Given the description of an element on the screen output the (x, y) to click on. 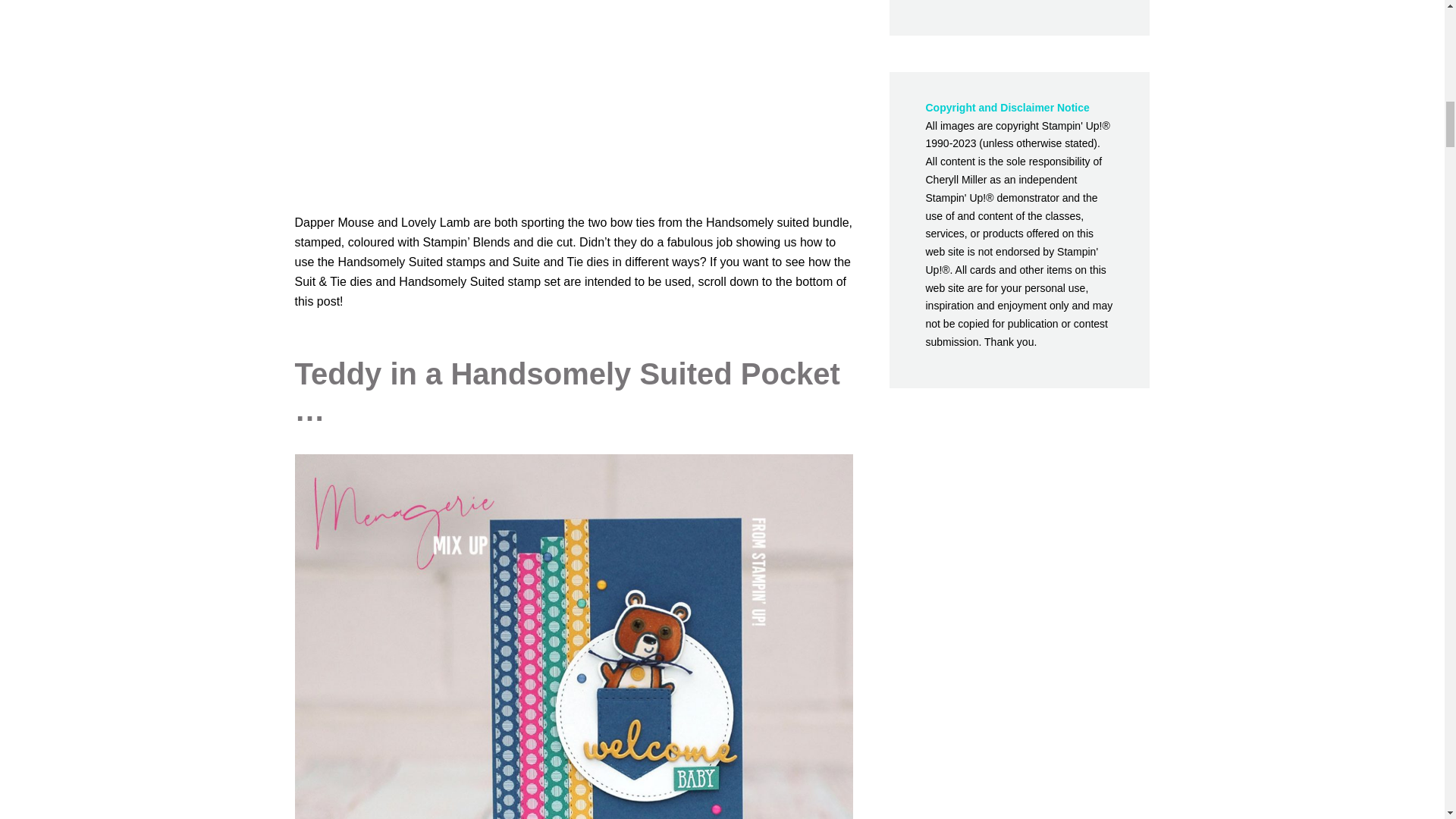
Menagerie Mix Up Mash Up (572, 91)
